Given the description of an element on the screen output the (x, y) to click on. 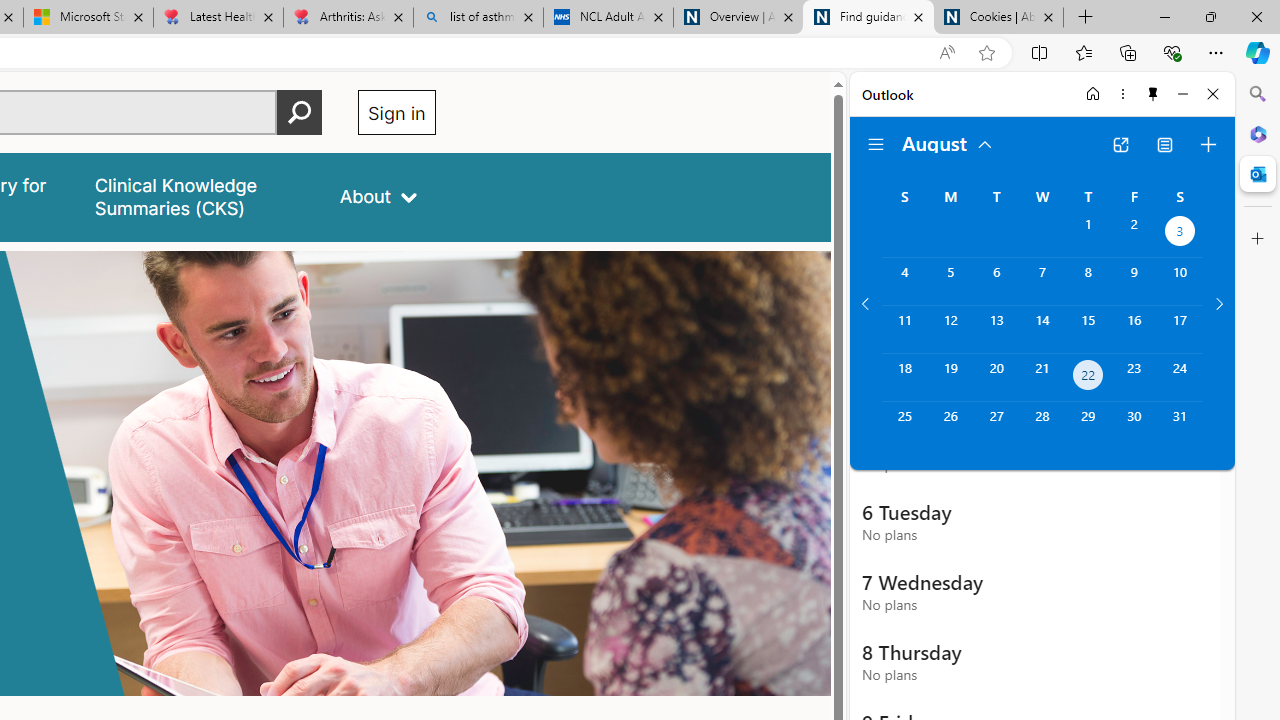
Cookies | About | NICE (998, 17)
Wednesday, August 21, 2024.  (1042, 377)
More options (1122, 93)
Close Customize pane (1258, 239)
Find guidance | NICE (868, 17)
Friday, August 30, 2024.  (1134, 425)
Sunday, August 25, 2024.  (904, 425)
Saturday, August 17, 2024.  (1180, 329)
Folder navigation (876, 144)
